Given the description of an element on the screen output the (x, y) to click on. 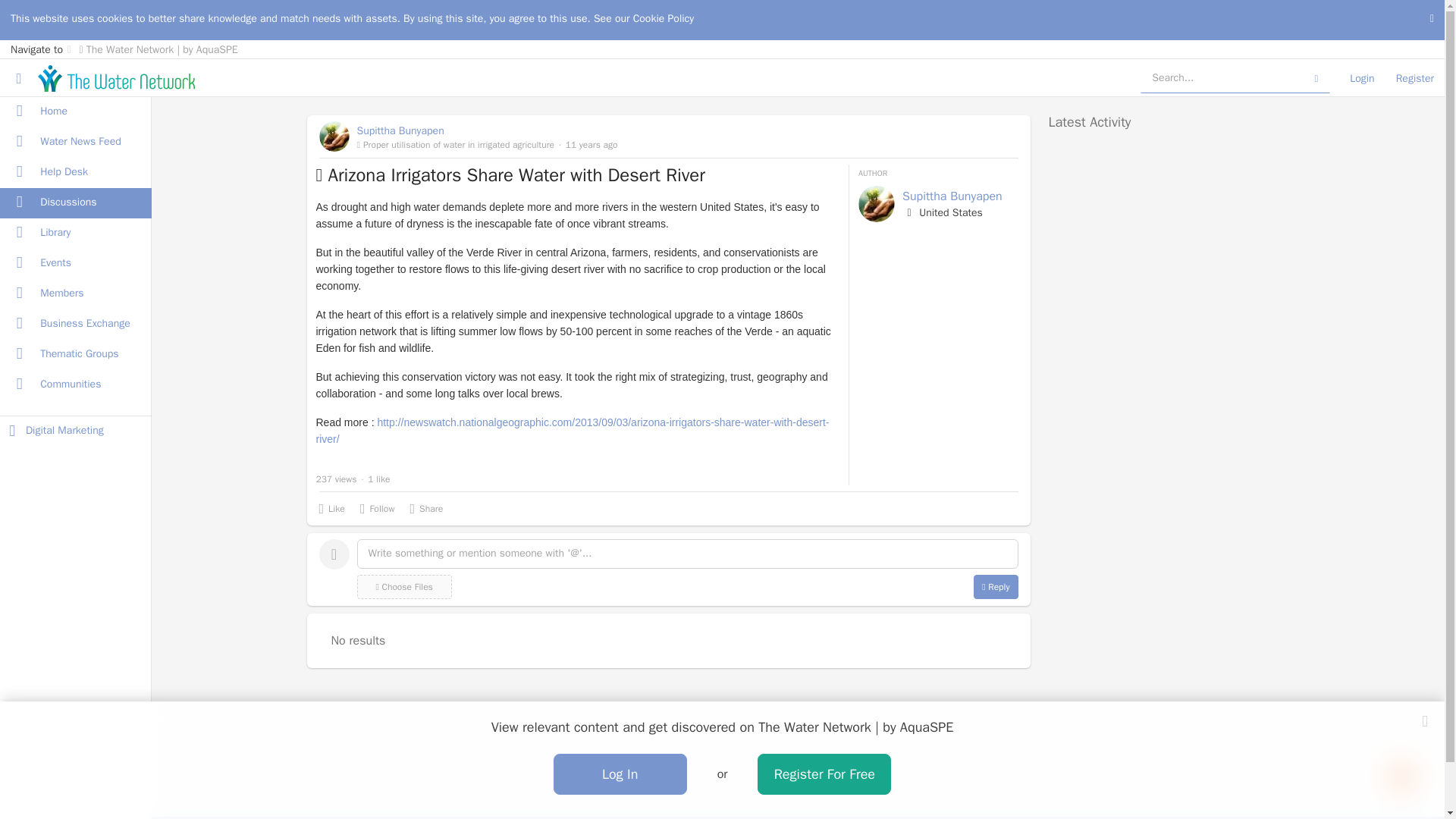
Share (425, 508)
Close (1424, 721)
Follow (376, 508)
Reply (995, 586)
Supittha Bunyapen (486, 130)
Like (330, 508)
Share (425, 508)
Proper utilisation of water in irrigated agriculture (454, 143)
Like (330, 508)
Login (1361, 77)
